Given the description of an element on the screen output the (x, y) to click on. 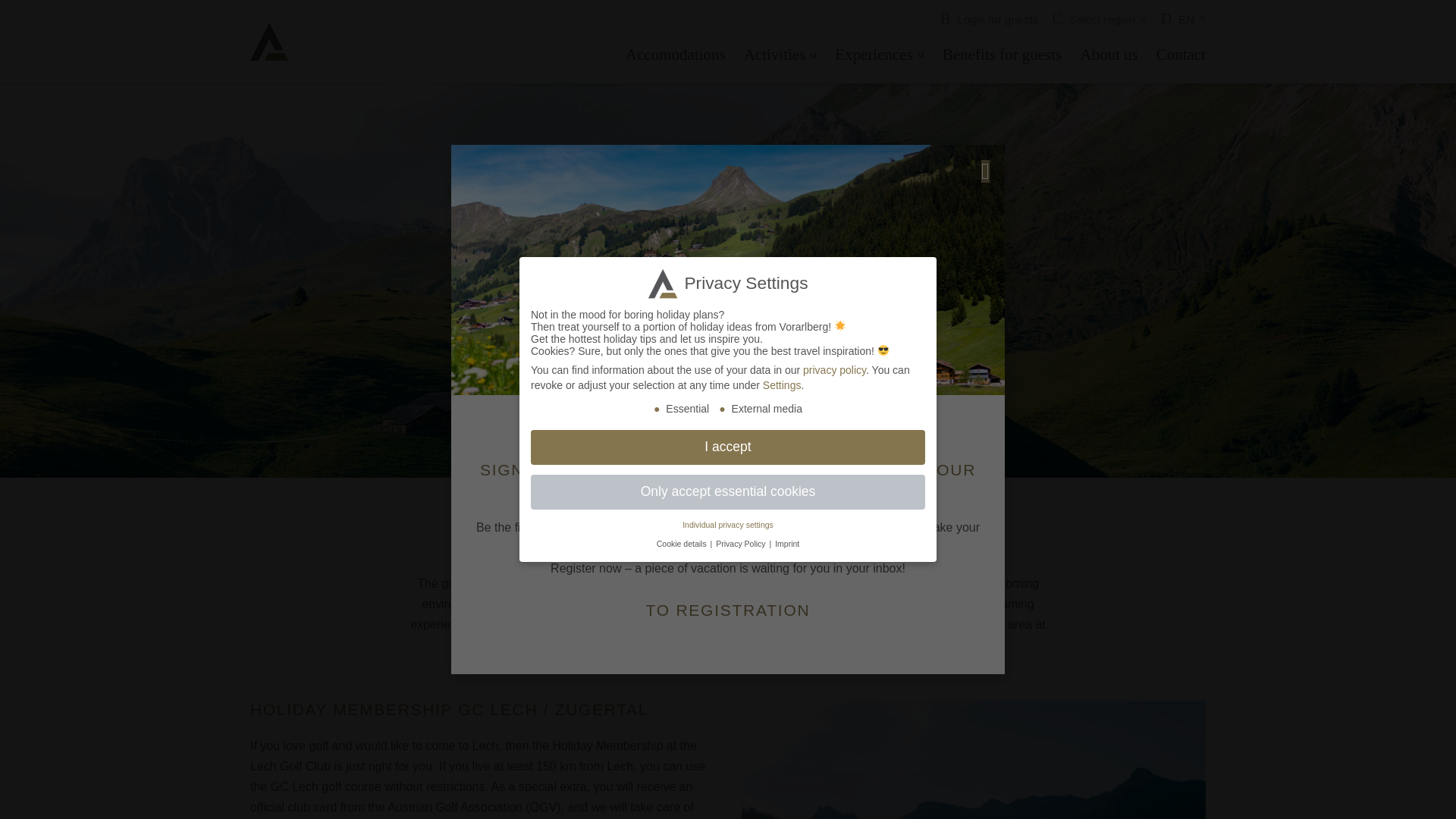
About us (1107, 55)
Benefits for guests (1001, 55)
Open Cookie Preferences (32, 799)
Accomodations (675, 55)
Activities (780, 55)
Login for guests (989, 19)
EN (1182, 19)
Experiences (879, 55)
Select region (1099, 19)
EN (1182, 19)
Contact (1176, 55)
